Given the description of an element on the screen output the (x, y) to click on. 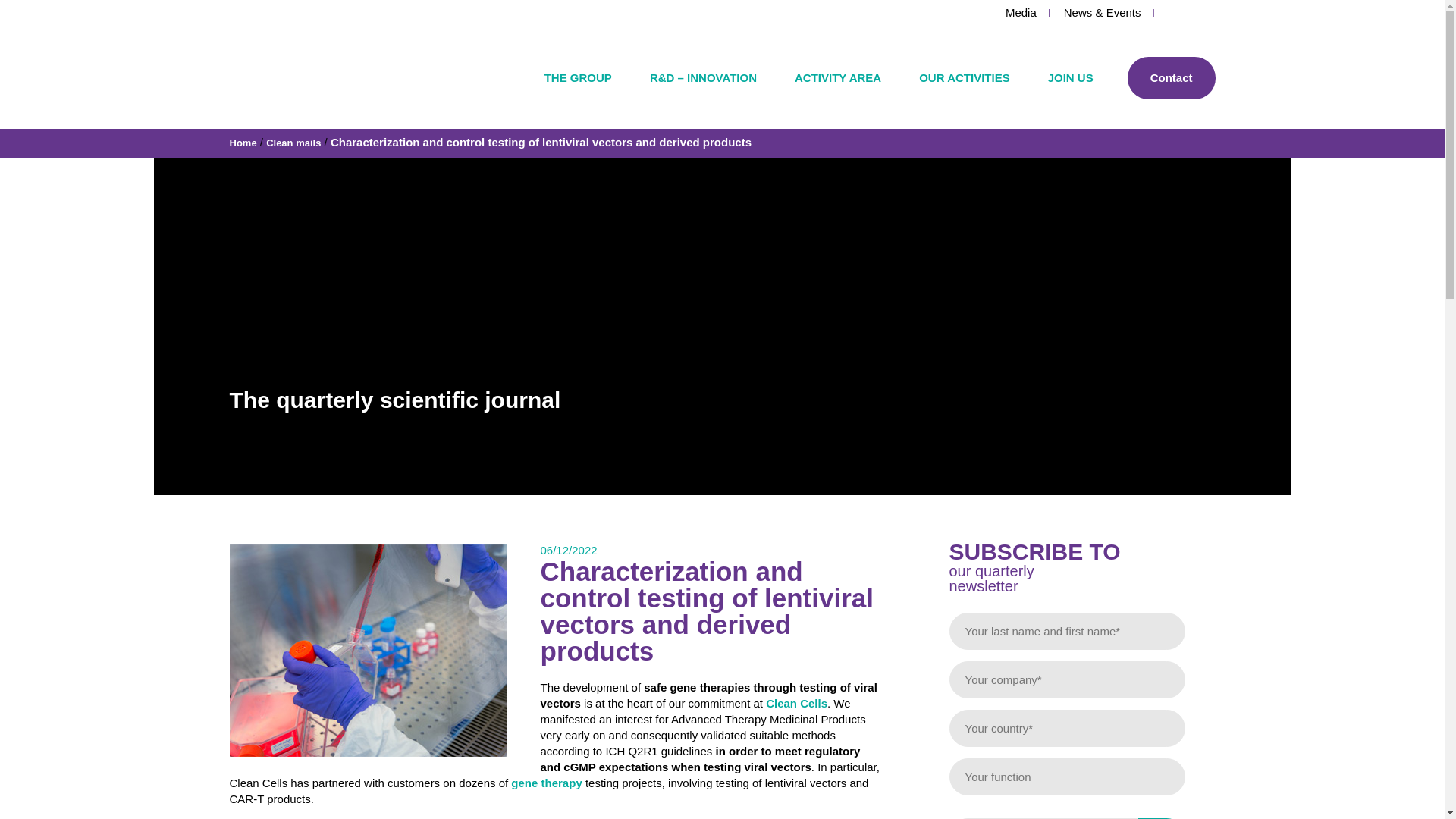
ACTIVITY AREA (837, 92)
gene therapy (545, 782)
OK (1161, 818)
Home (242, 142)
JOIN US (1070, 92)
OUR ACTIVITIES (963, 92)
OK (1161, 818)
Media (1021, 11)
Clean mails (293, 142)
THE GROUP (577, 92)
